Given the description of an element on the screen output the (x, y) to click on. 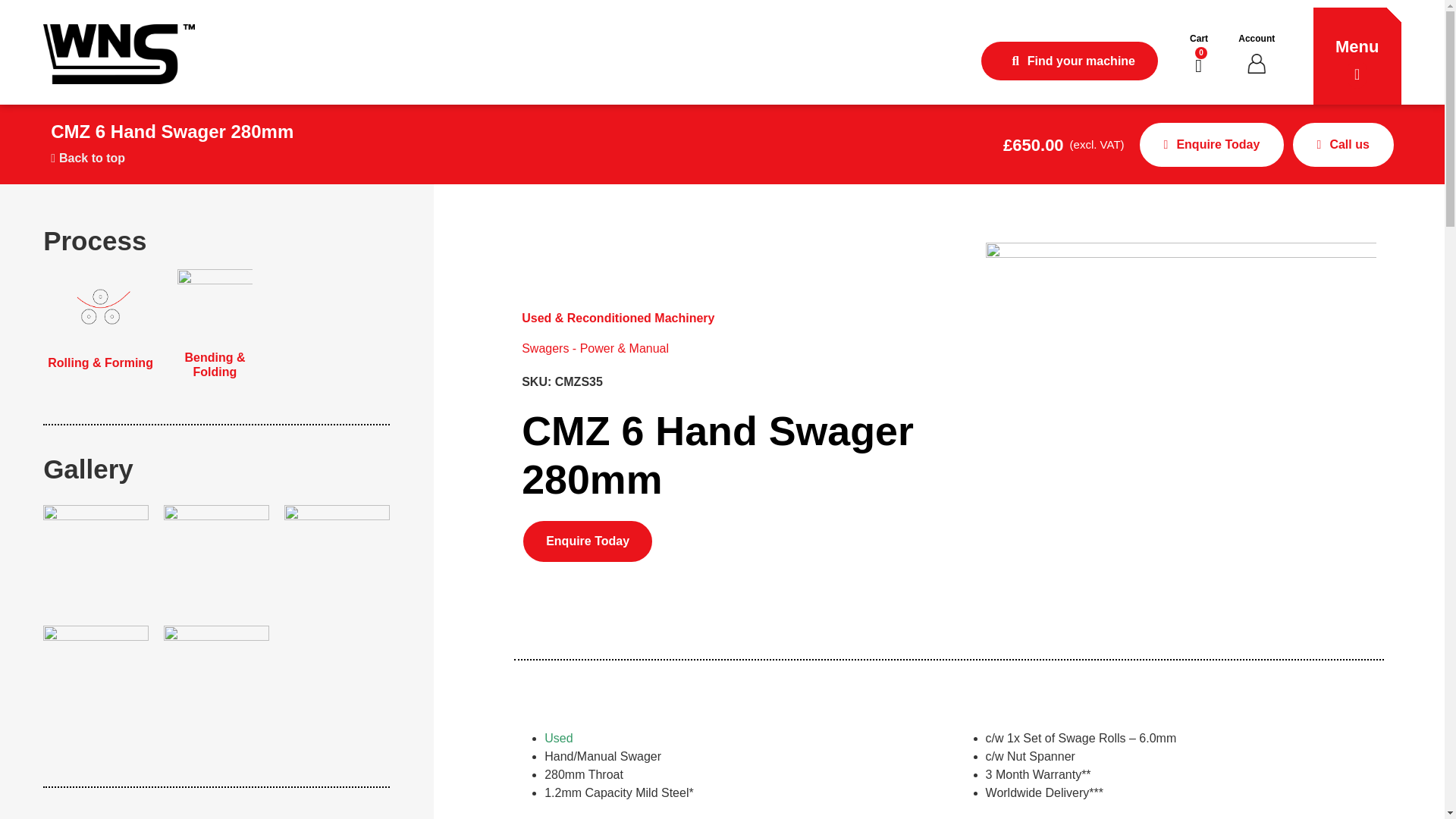
cmz-6-hand-swager-cmzs35 (95, 557)
Account (1257, 38)
Menu (1356, 46)
Find your machine (1069, 60)
0 (1198, 65)
